Given the description of an element on the screen output the (x, y) to click on. 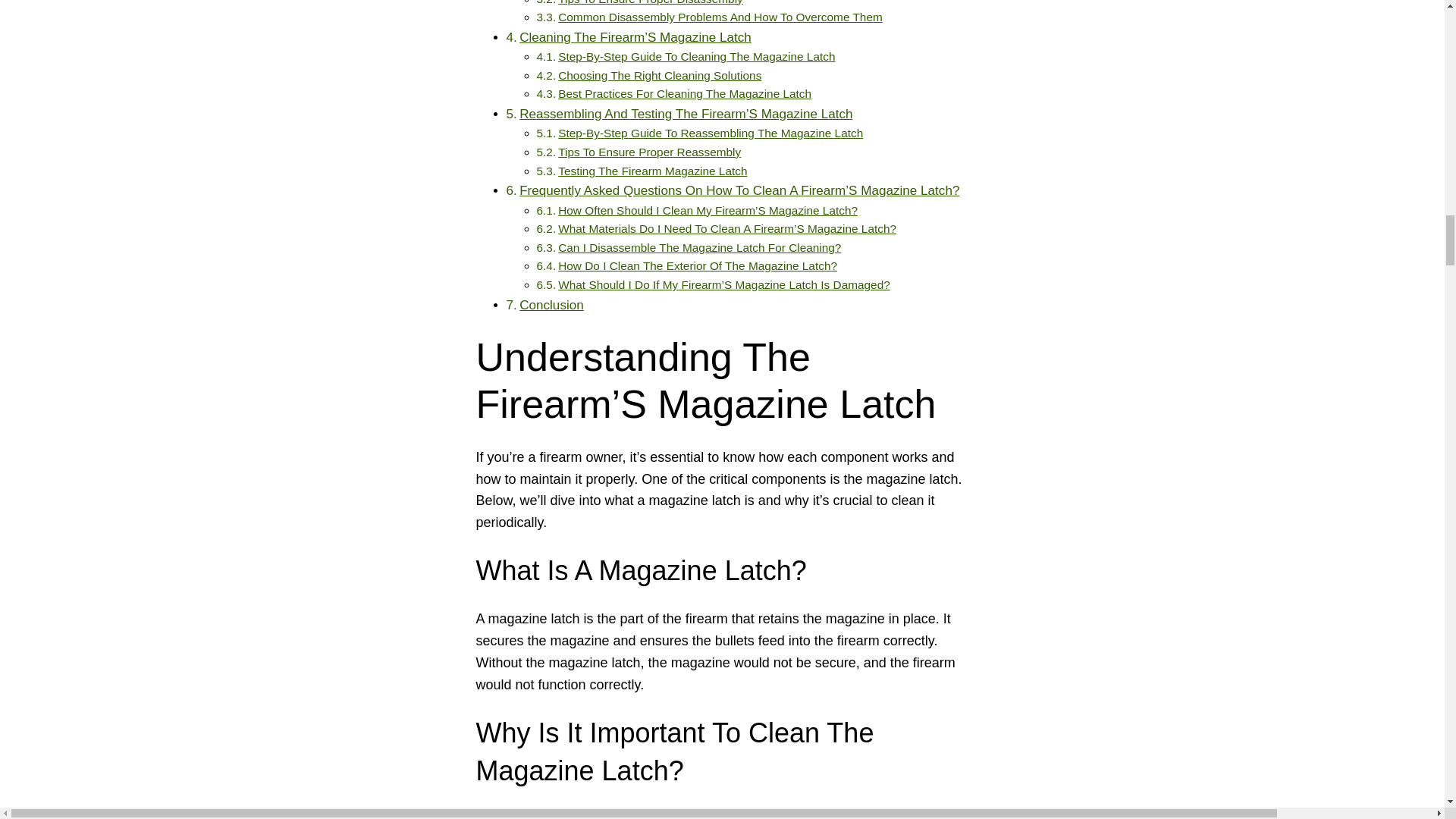
Step-By-Step Guide To Cleaning The Magazine Latch (695, 56)
Can I Disassemble The Magazine Latch For Cleaning? (699, 246)
Tips To Ensure Proper Disassembly (649, 2)
Common Disassembly Problems And How To Overcome Them (719, 16)
Tips To Ensure Proper Reassembly (649, 151)
Best Practices For Cleaning The Magazine Latch (683, 92)
Choosing The Right Cleaning Solutions (659, 74)
Tips To Ensure Proper Disassembly (649, 2)
Testing The Firearm Magazine Latch (651, 170)
Step-By-Step Guide To Reassembling The Magazine Latch (710, 132)
How Do I Clean The Exterior Of The Magazine Latch? (697, 265)
